Given the description of an element on the screen output the (x, y) to click on. 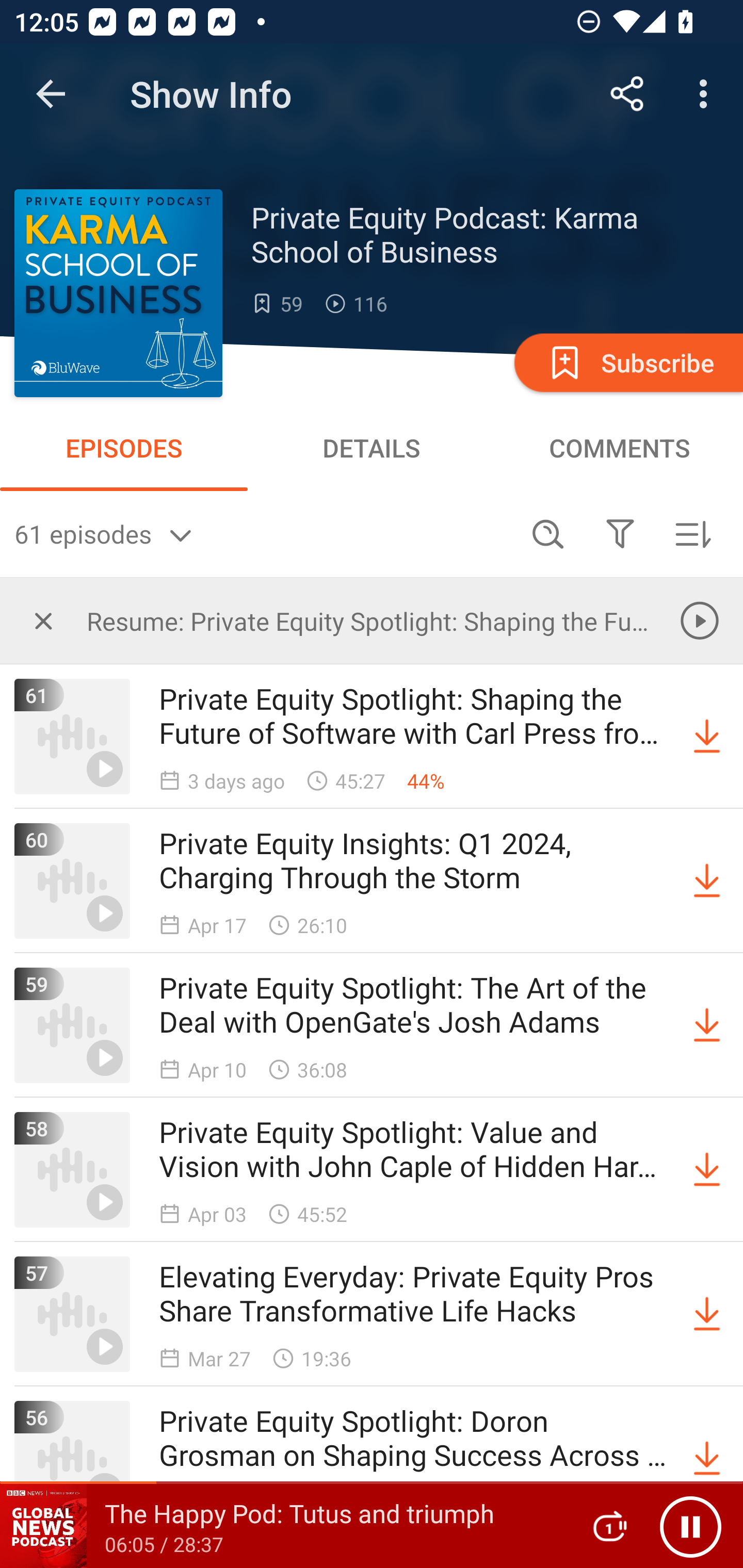
Navigate up (50, 93)
Share (626, 93)
More options (706, 93)
Subscribe (627, 361)
EPISODES (123, 447)
DETAILS (371, 447)
COMMENTS (619, 447)
61 episodes  (262, 533)
 Search (547, 533)
 (619, 533)
 Sorted by newest first (692, 533)
 (43, 620)
Download (706, 736)
Download (706, 881)
Download (706, 1025)
Download (706, 1169)
Download (706, 1313)
Download (706, 1458)
The Happy Pod: Tutus and triumph 06:05 / 28:37 (283, 1525)
Pause (690, 1526)
